Given the description of an element on the screen output the (x, y) to click on. 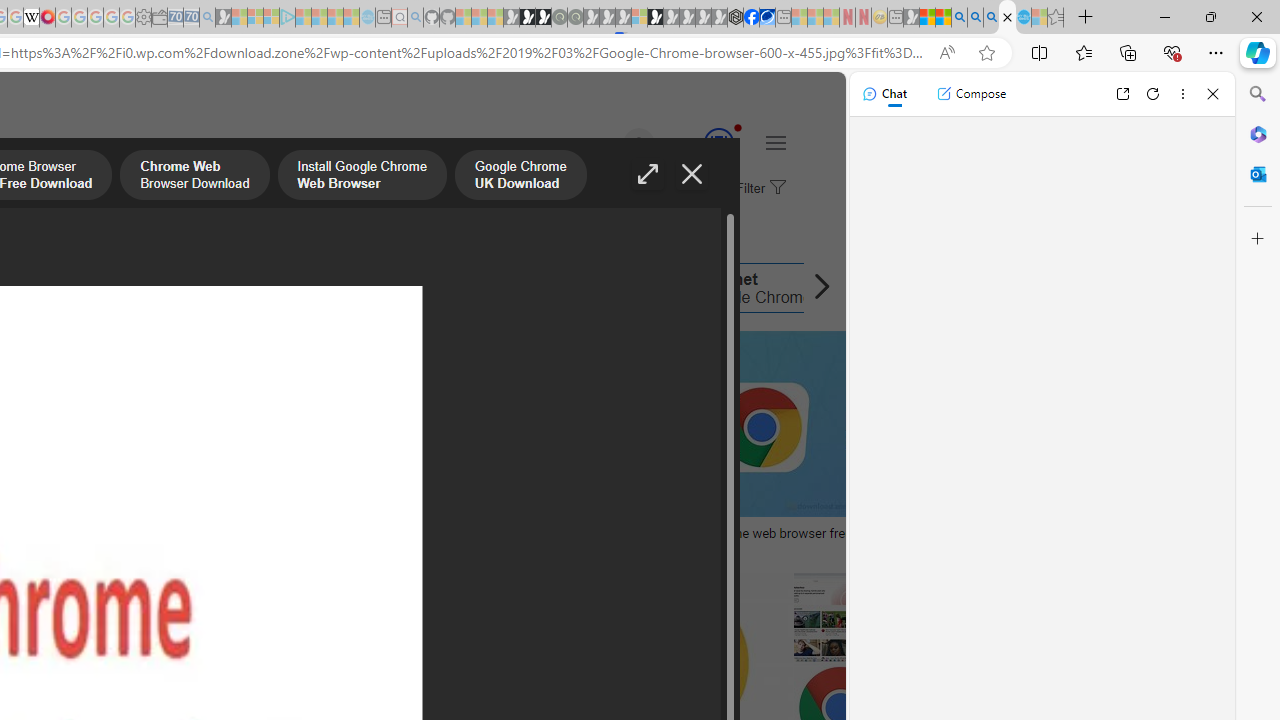
Close image (692, 173)
Image result for Google Chrome Internet Browser Download (817, 423)
